Given the description of an element on the screen output the (x, y) to click on. 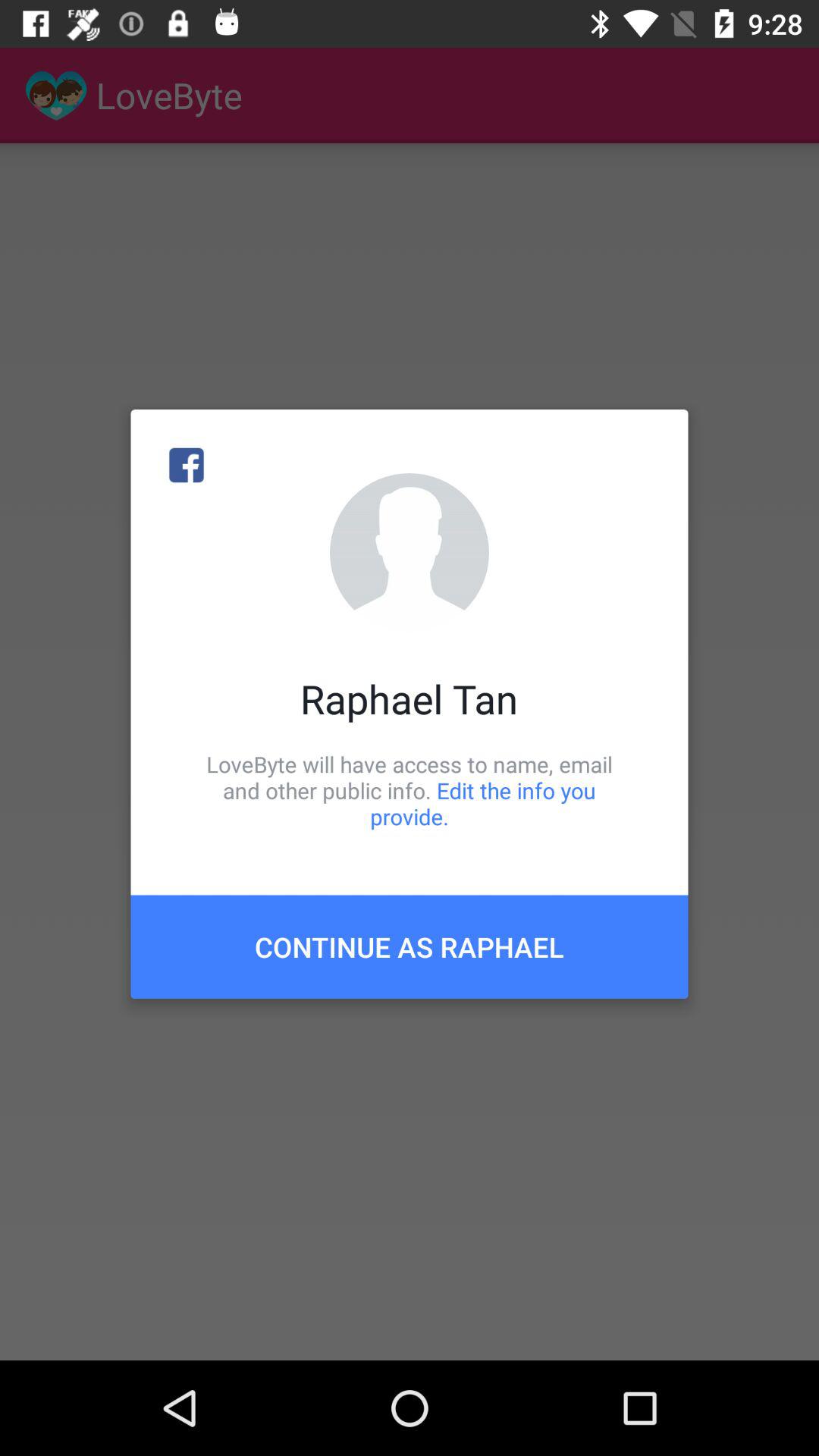
jump until the continue as raphael item (409, 946)
